Given the description of an element on the screen output the (x, y) to click on. 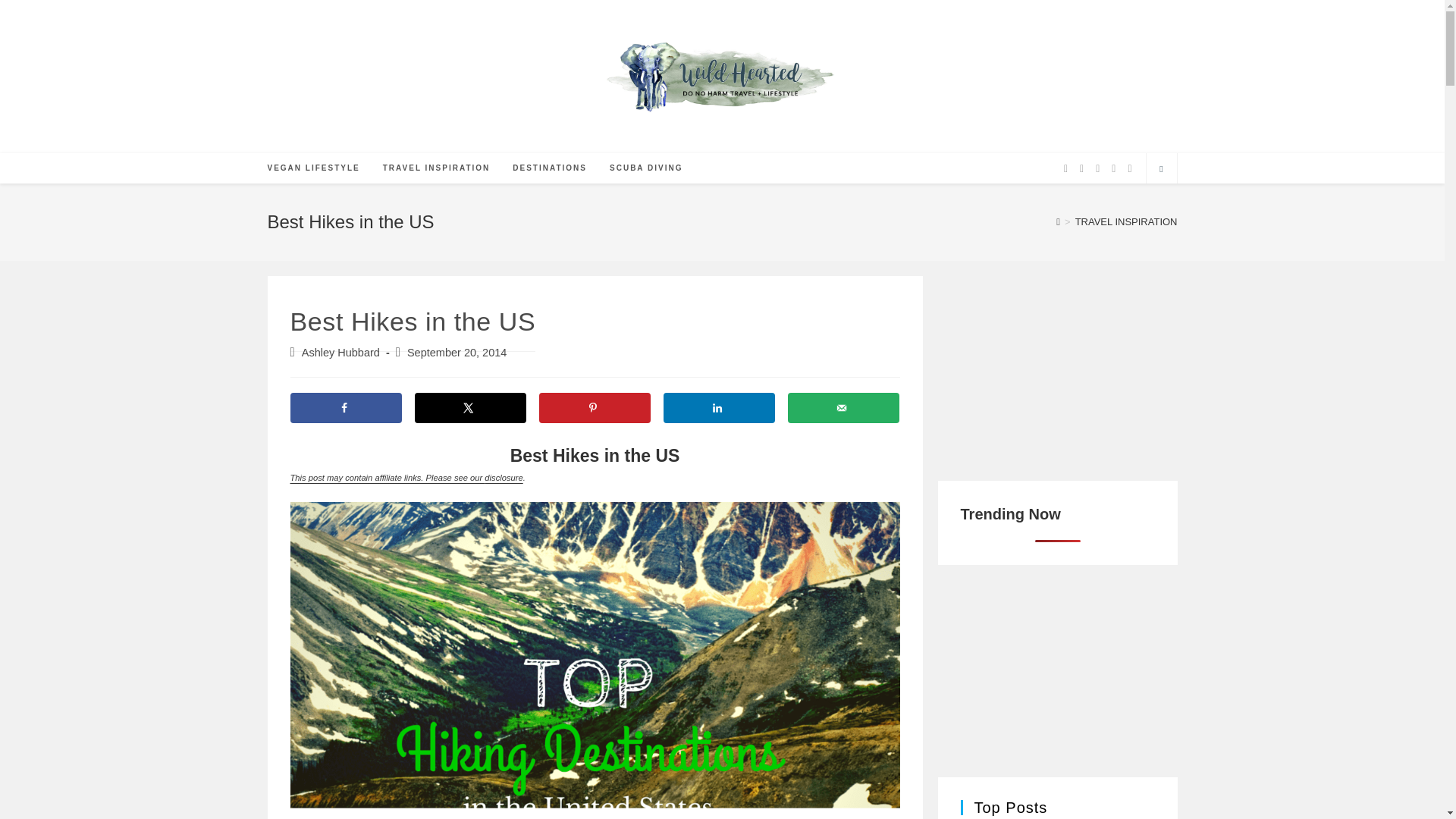
Posts by Ashley Hubbard (340, 352)
TRAVEL INSPIRATION (436, 168)
VEGAN LIFESTYLE (313, 168)
Save to Pinterest (594, 408)
Share on LinkedIn (718, 408)
Share on X (469, 408)
SCUBA DIVING (646, 168)
DESTINATIONS (549, 168)
Send over email (843, 408)
Share on Facebook (345, 408)
